Given the description of an element on the screen output the (x, y) to click on. 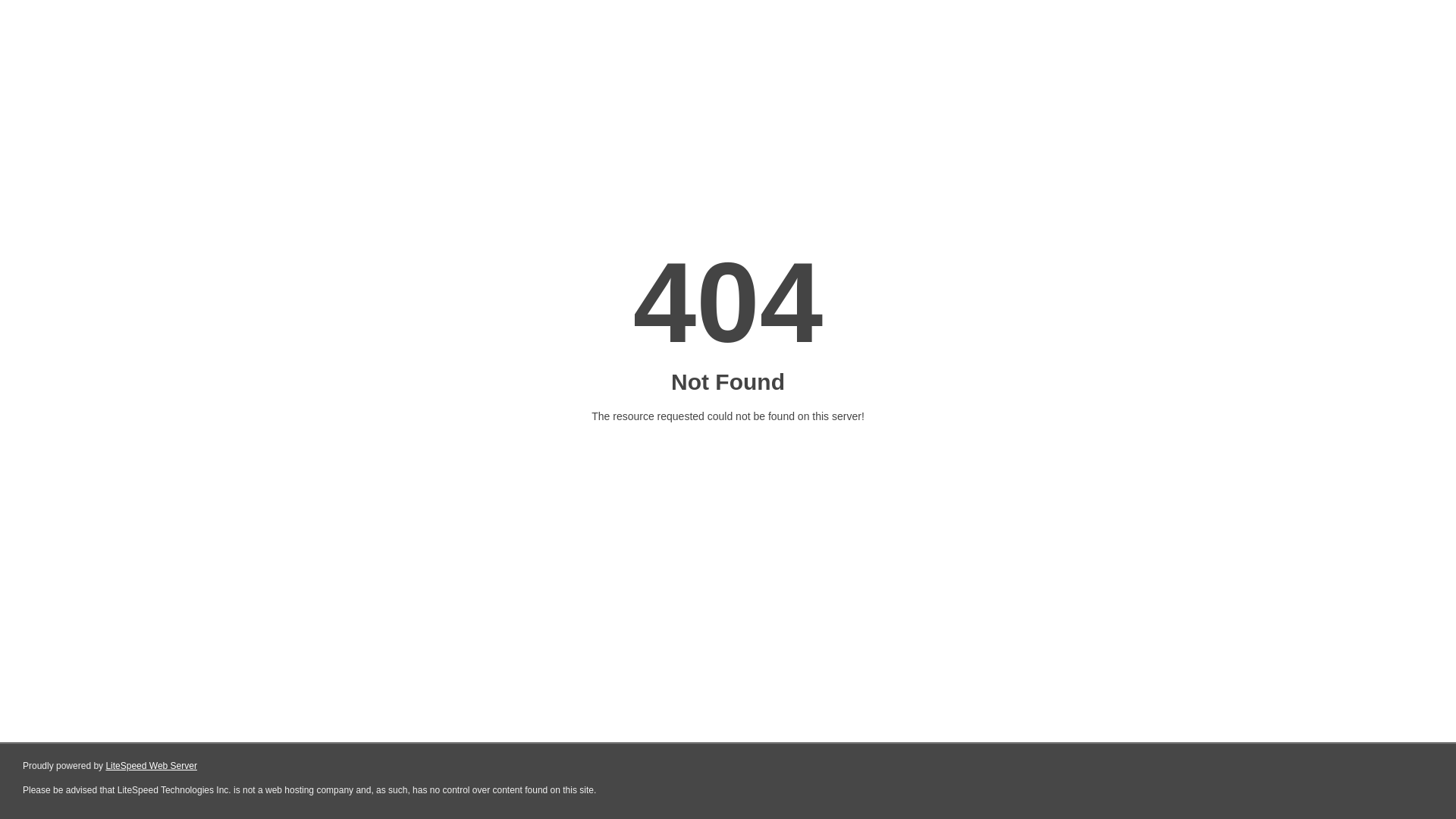
LiteSpeed Web Server (150, 765)
